Given the description of an element on the screen output the (x, y) to click on. 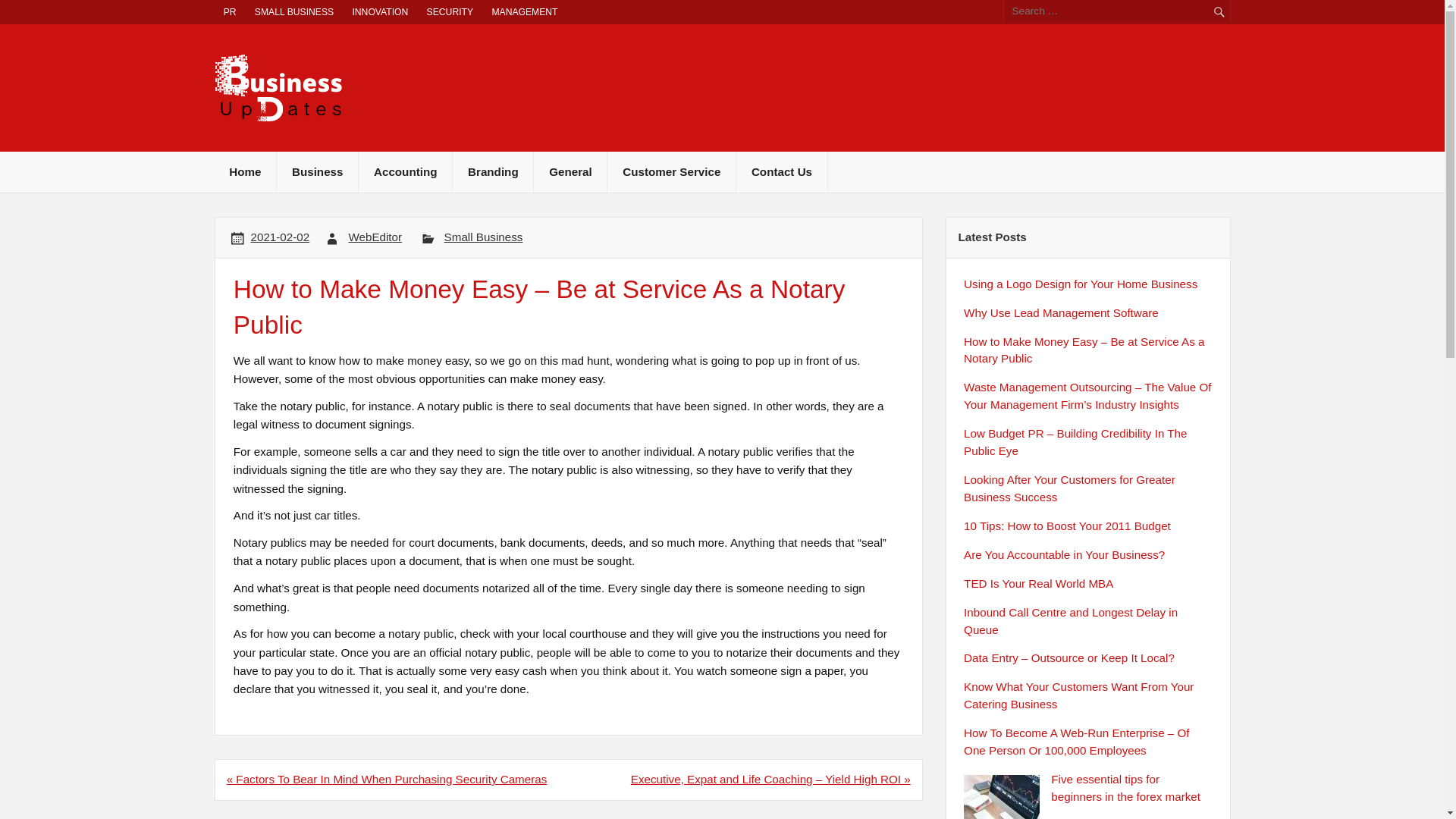
10 Tips: How to Boost Your 2011 Budget (1066, 525)
Looking After Your Customers for Greater Business Success (1068, 488)
Contact Us (781, 172)
View all posts by WebEditor (374, 236)
INNOVATION (379, 12)
SECURITY (448, 12)
Inbound Call Centre and Longest Delay in Queue (1070, 621)
Why Use Lead Management Software (1060, 312)
2021-02-02 (280, 236)
Business (317, 172)
